Given the description of an element on the screen output the (x, y) to click on. 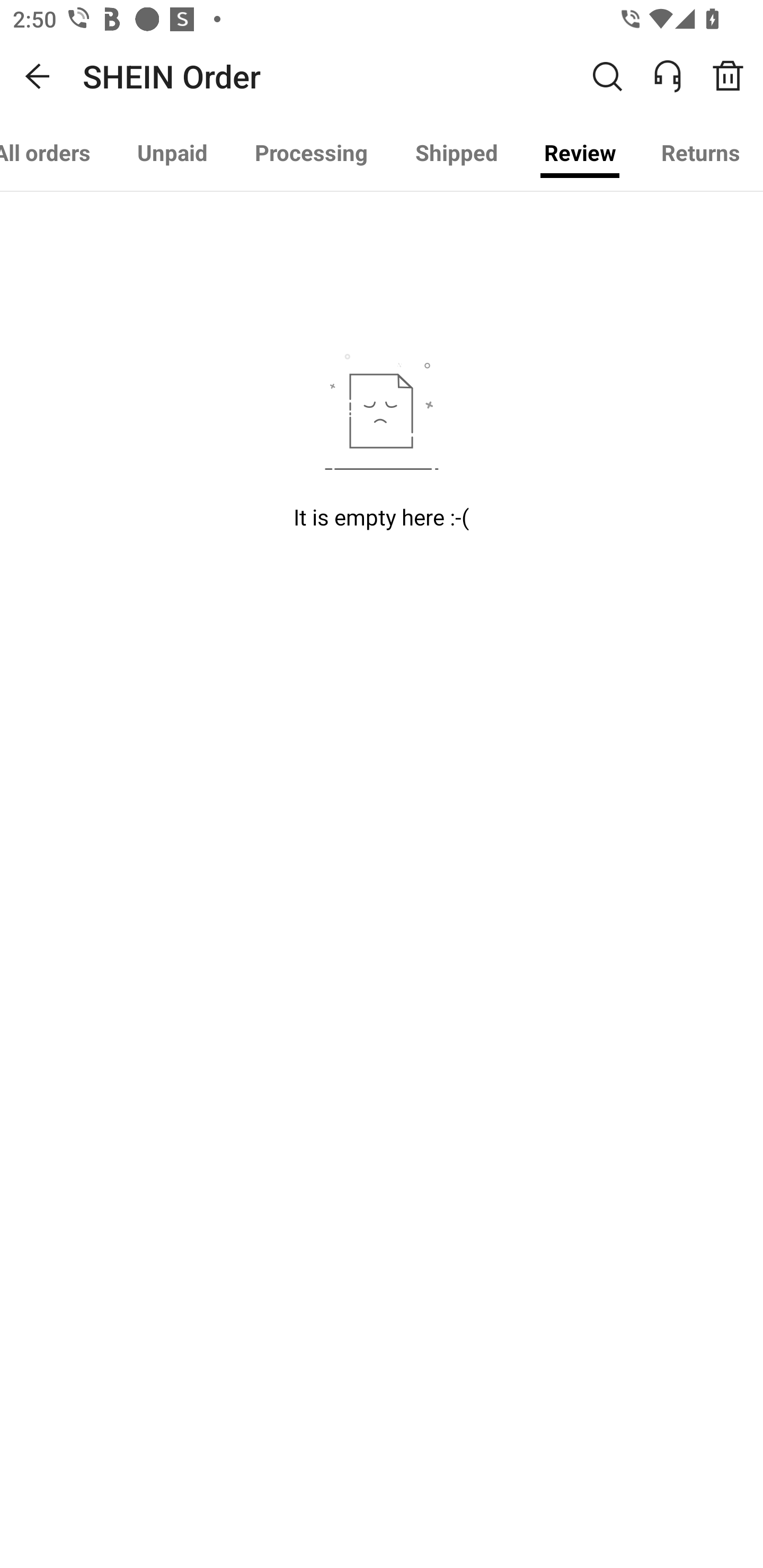
Navigate up (38, 75)
Search (607, 75)
ONLINE SERVICE (676, 75)
Order Recycle Bin (734, 75)
Unpaid (171, 152)
Processing (310, 152)
Shipped (456, 152)
Review (579, 152)
Returns (700, 152)
